Given the description of an element on the screen output the (x, y) to click on. 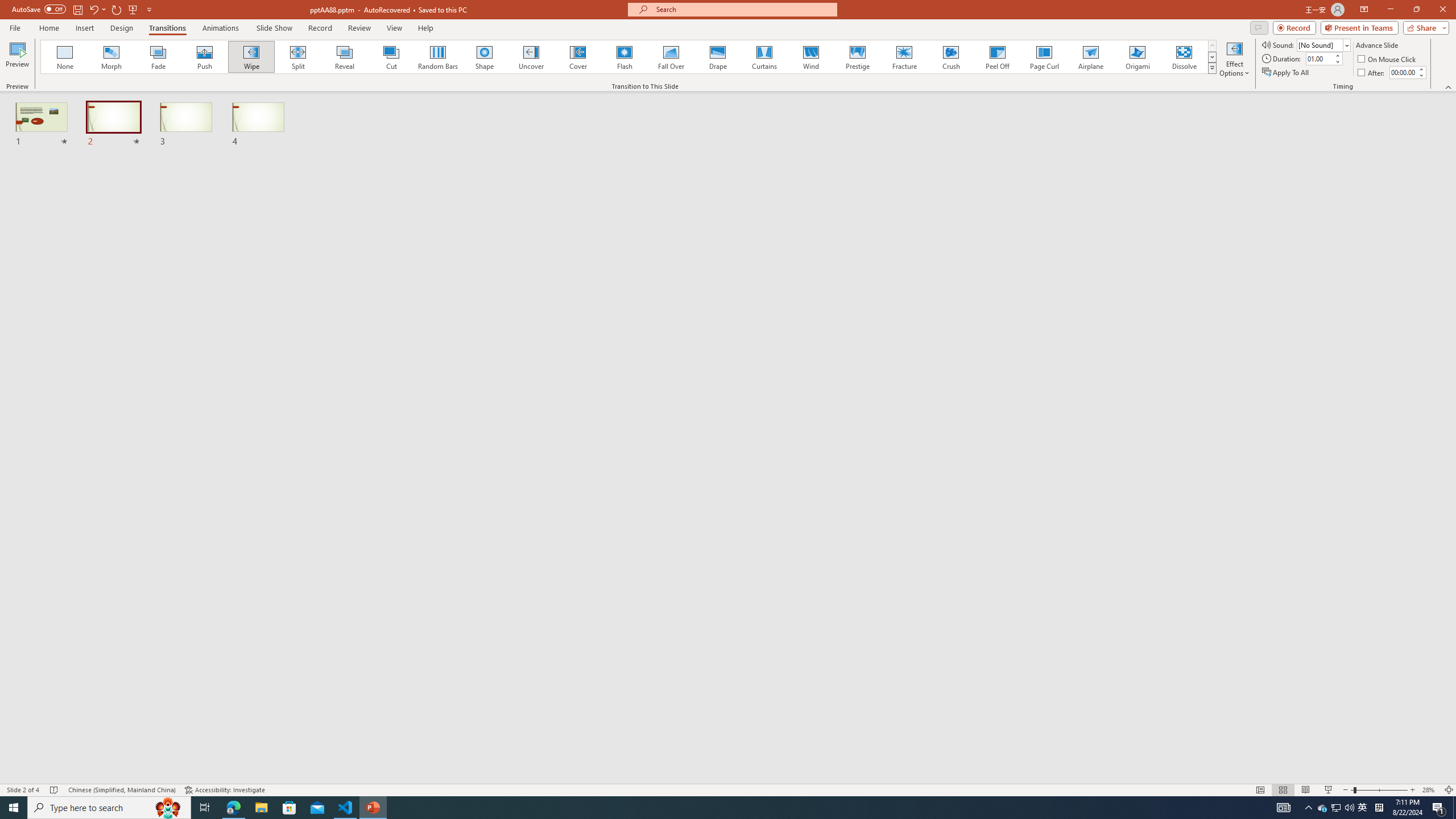
Prestige (857, 56)
On Mouse Click (1387, 58)
